Given the description of an element on the screen output the (x, y) to click on. 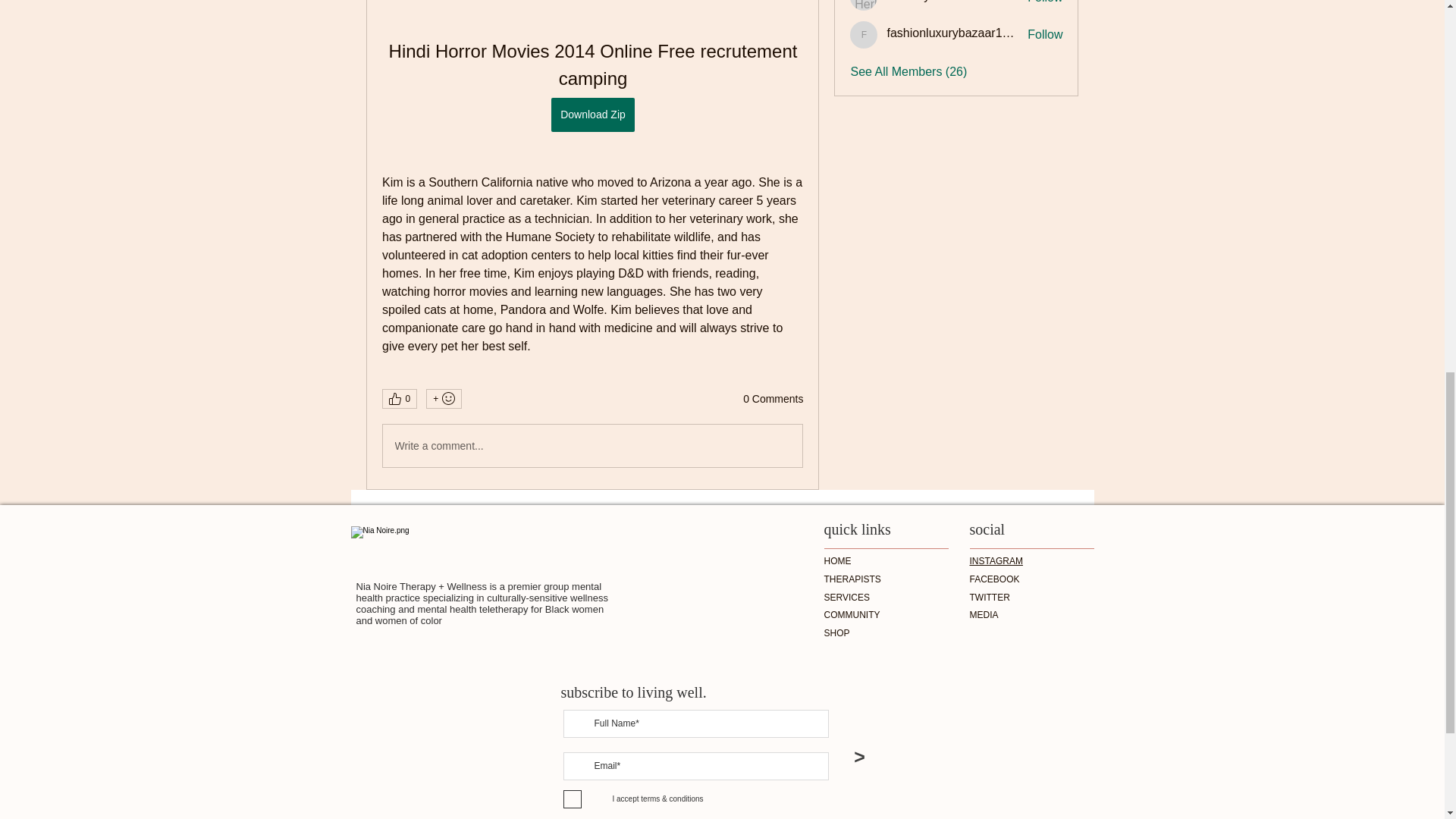
FACEBOOK (994, 579)
Write a comment... (591, 445)
Follow (1044, 34)
Download Zip (592, 114)
0 Comments (772, 399)
HOME (837, 561)
Follow (1044, 2)
SERVICES (846, 597)
Herl Wyatt (863, 5)
SHOP (836, 633)
COMMUNITY (851, 614)
MEDIA (983, 614)
INSTAGRAM (995, 561)
fashionluxurybazaar1004 (954, 32)
